Given the description of an element on the screen output the (x, y) to click on. 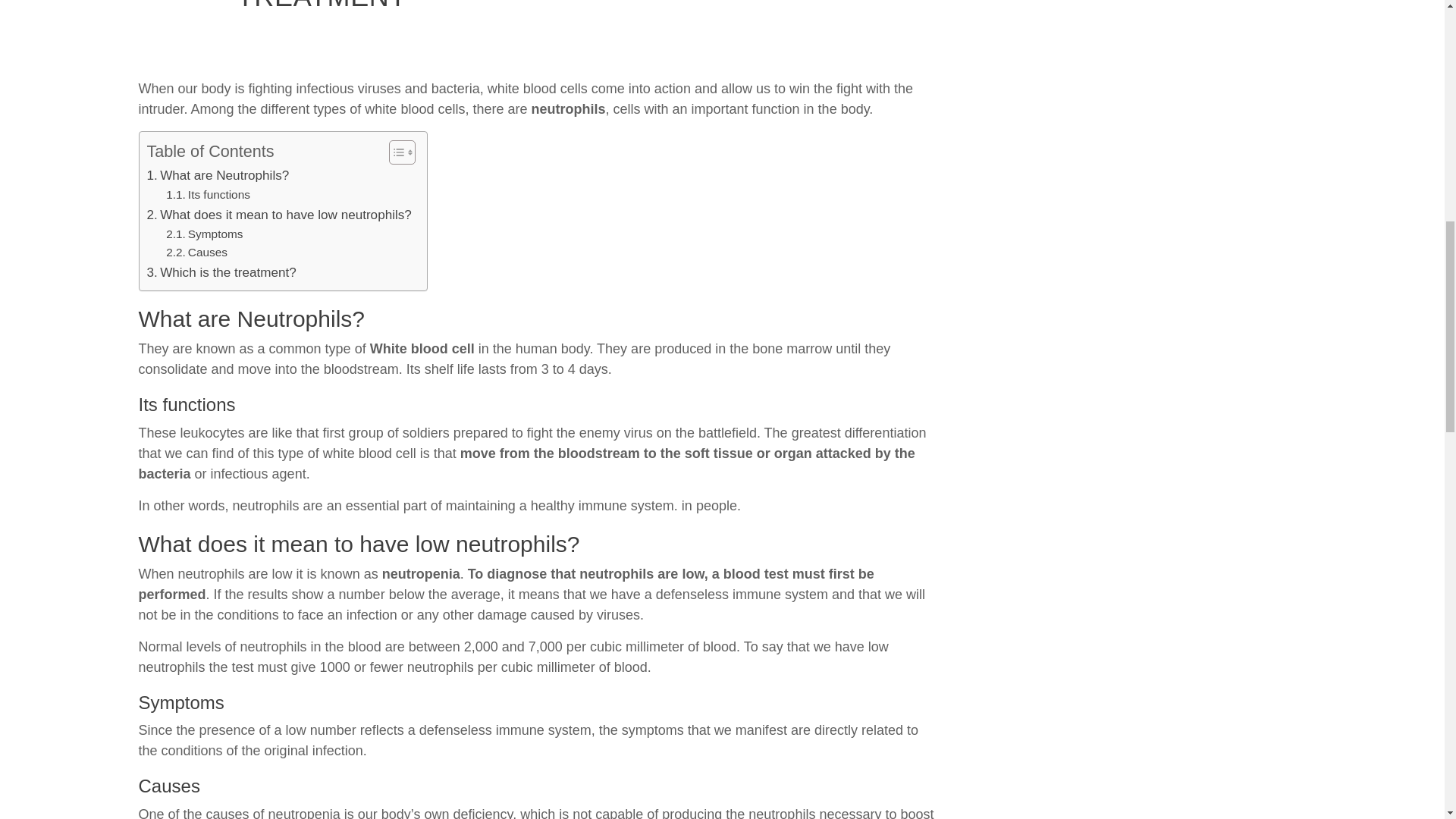
Symptoms (204, 234)
What are Neutrophils? (218, 175)
Symptoms (204, 234)
Which is the treatment? (222, 272)
What does it mean to have low neutrophils? (279, 214)
Its functions (207, 194)
What does it mean to have low neutrophils? (279, 214)
Its functions (207, 194)
Causes (196, 252)
Causes (196, 252)
